Given the description of an element on the screen output the (x, y) to click on. 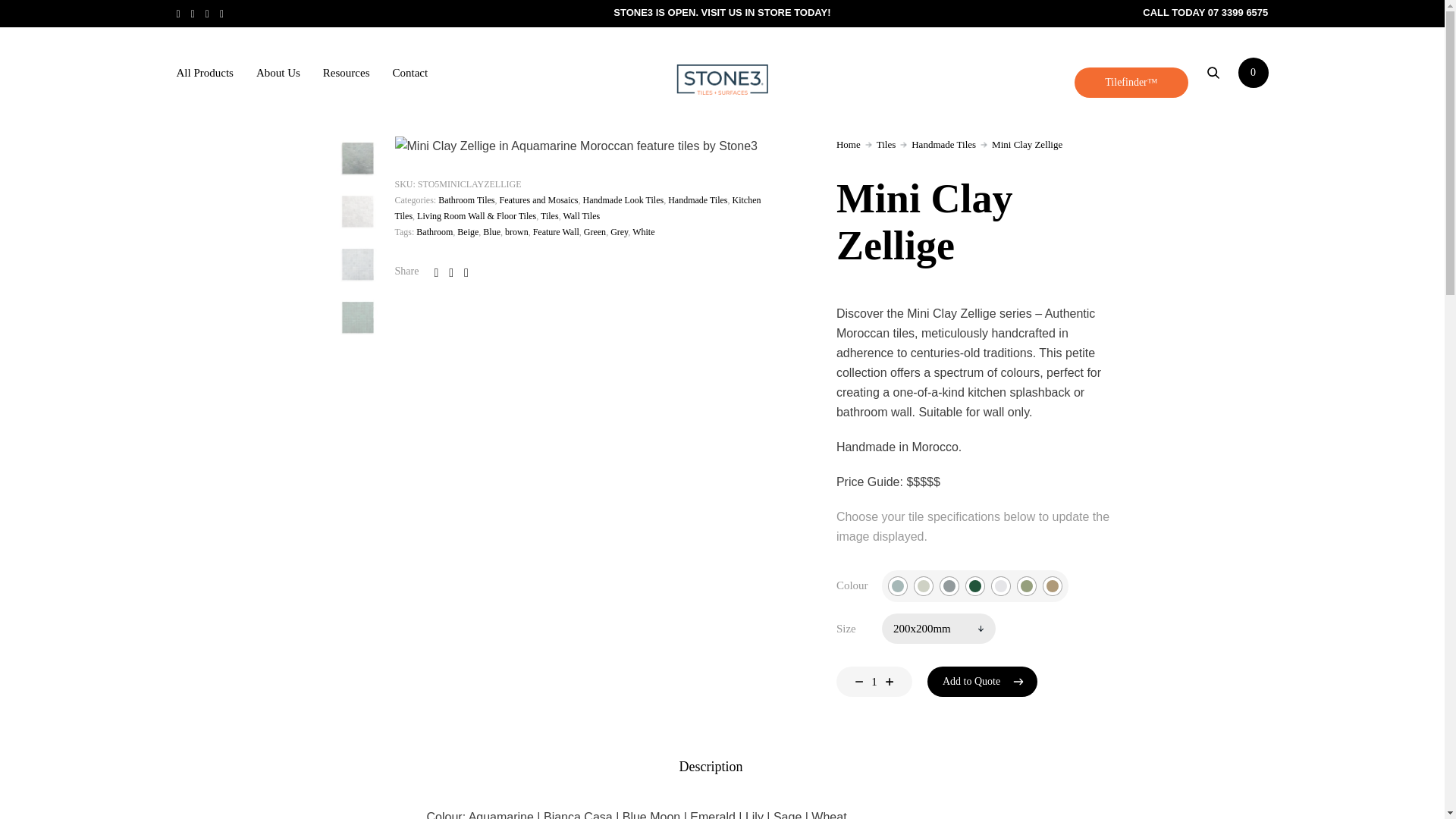
Lily (1000, 586)
Qty (873, 681)
Wheat (1052, 586)
CALL TODAY 07 3399 6575 (1205, 12)
Sage (302, 72)
0 (1026, 586)
Blue Moon (1252, 72)
STONE3 IS OPEN. VISIT US IN STORE TODAY! (949, 586)
1 (720, 12)
Bianca Casa (873, 681)
Aquamarine (923, 586)
All Products (897, 586)
Emerald (204, 72)
